Given the description of an element on the screen output the (x, y) to click on. 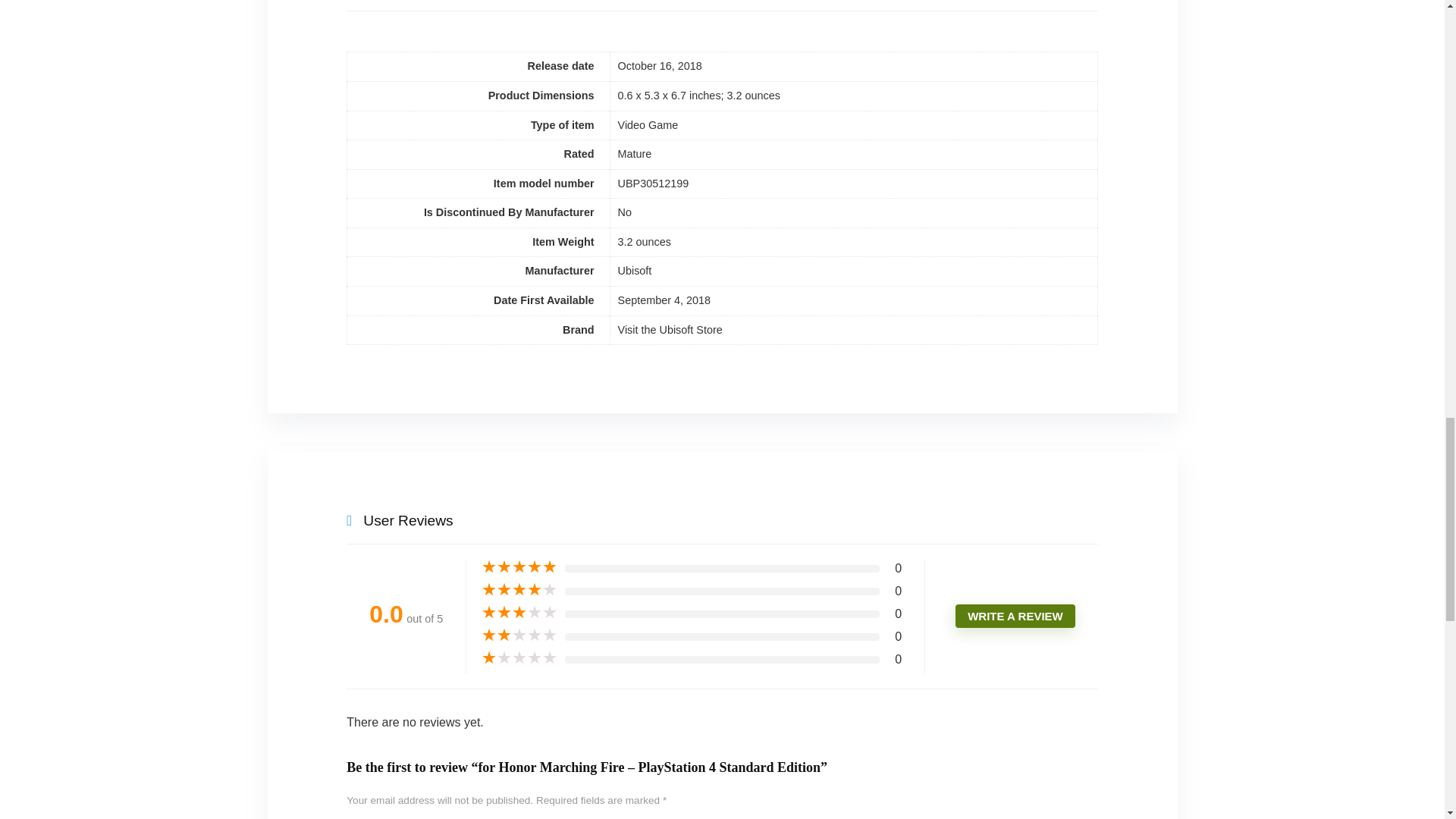
Rated 2 out of 5 (519, 635)
Rated 4 out of 5 (519, 589)
WRITE A REVIEW (1015, 616)
Rated 5 out of 5 (519, 566)
Rated 3 out of 5 (519, 612)
